Given the description of an element on the screen output the (x, y) to click on. 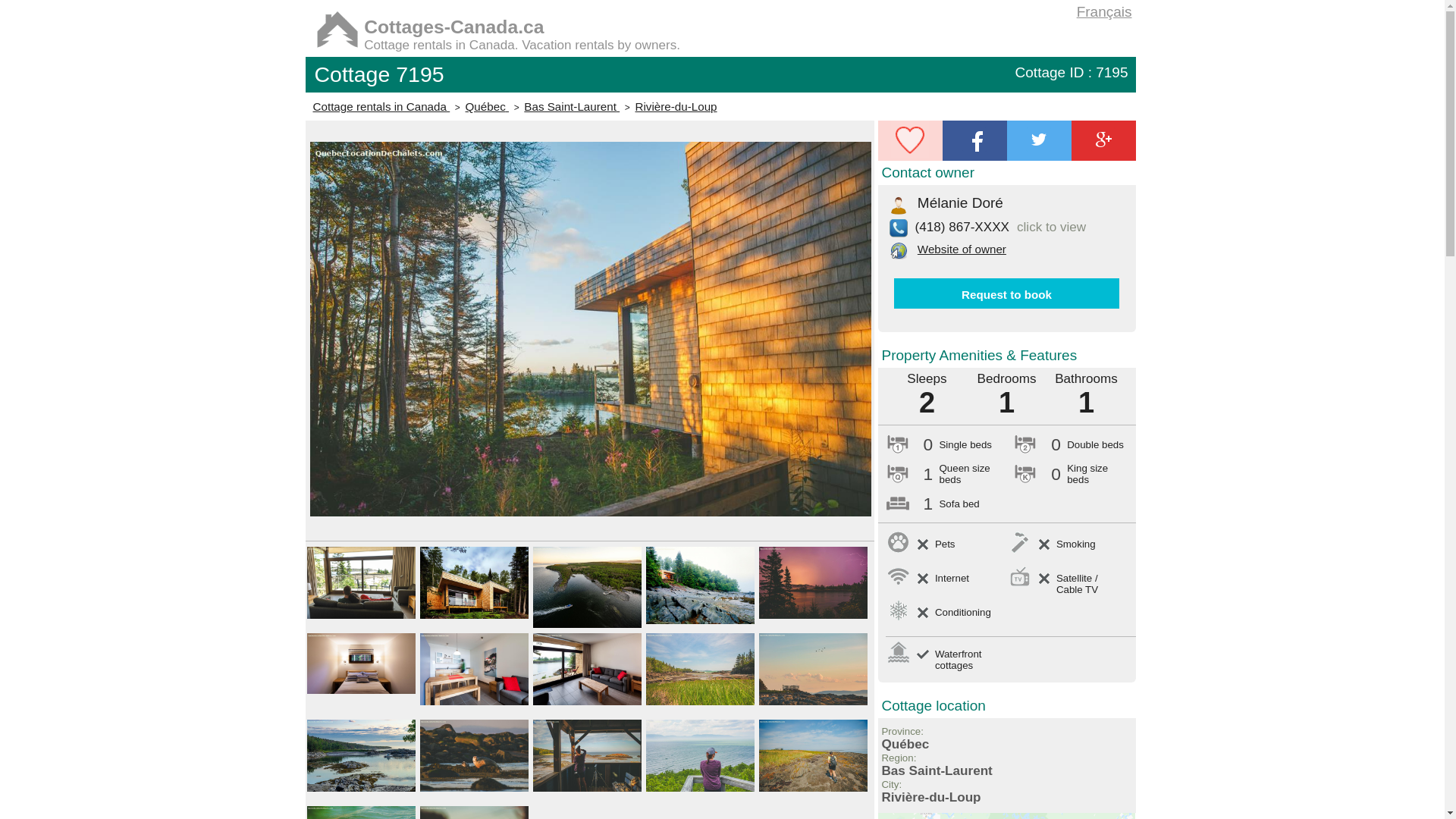
share (1038, 139)
Request to book (1005, 294)
share (974, 139)
Cottage rentals in Canada (381, 106)
Website of owner (958, 248)
share (1102, 139)
Cottage rentals Bas Saint-Laurent (572, 106)
Bas Saint-Laurent (572, 106)
add favorite (909, 139)
Cottage rentals in Canada (381, 106)
